Given the description of an element on the screen output the (x, y) to click on. 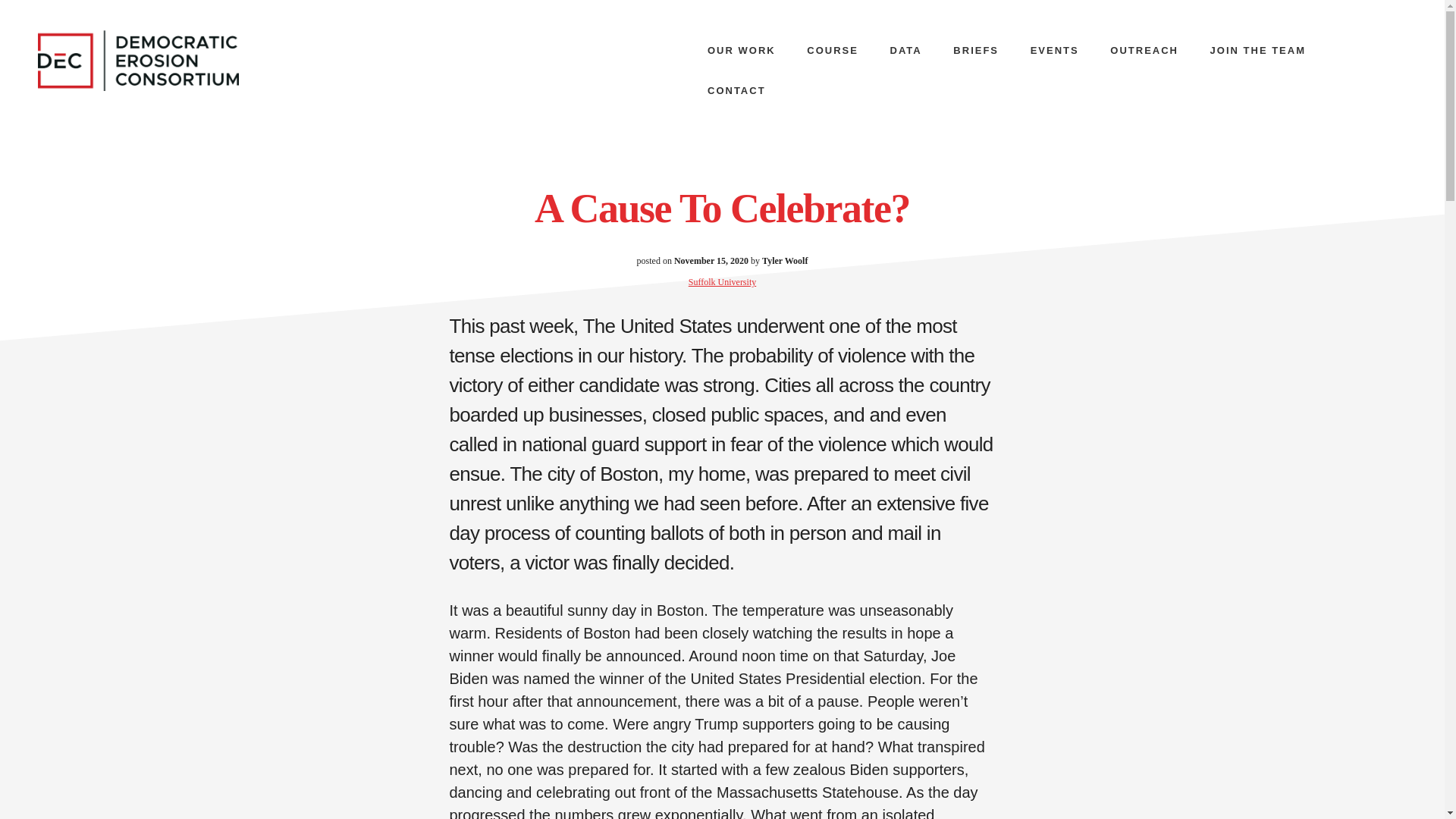
OUTREACH (1144, 50)
JOIN THE TEAM (1257, 50)
OUR WORK (741, 50)
DATA (906, 50)
BRIEFS (975, 50)
CONTACT (736, 90)
DEMOCRATIC EROSION (150, 60)
EVENTS (1054, 50)
COURSE (832, 50)
